Given the description of an element on the screen output the (x, y) to click on. 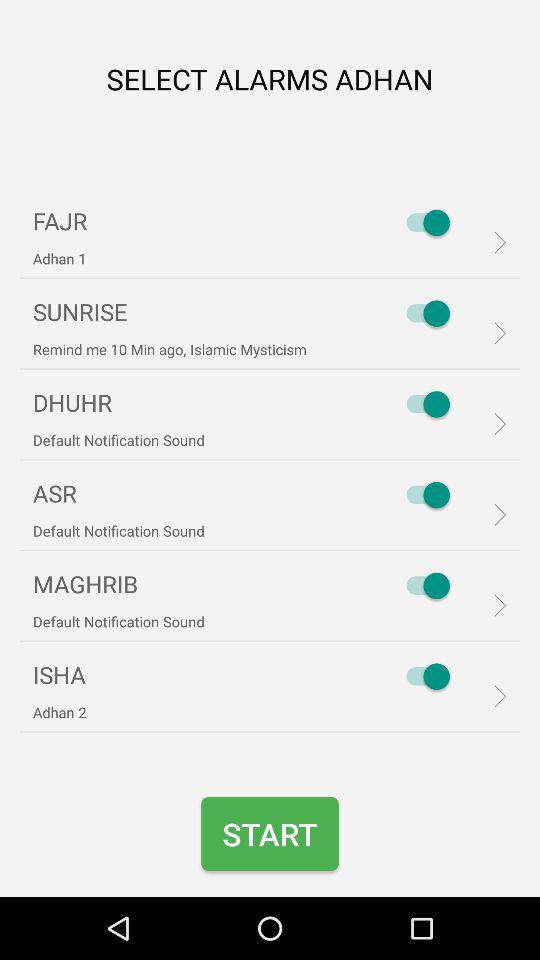
launch the item to the right of remind me 10 icon (423, 313)
